Given the description of an element on the screen output the (x, y) to click on. 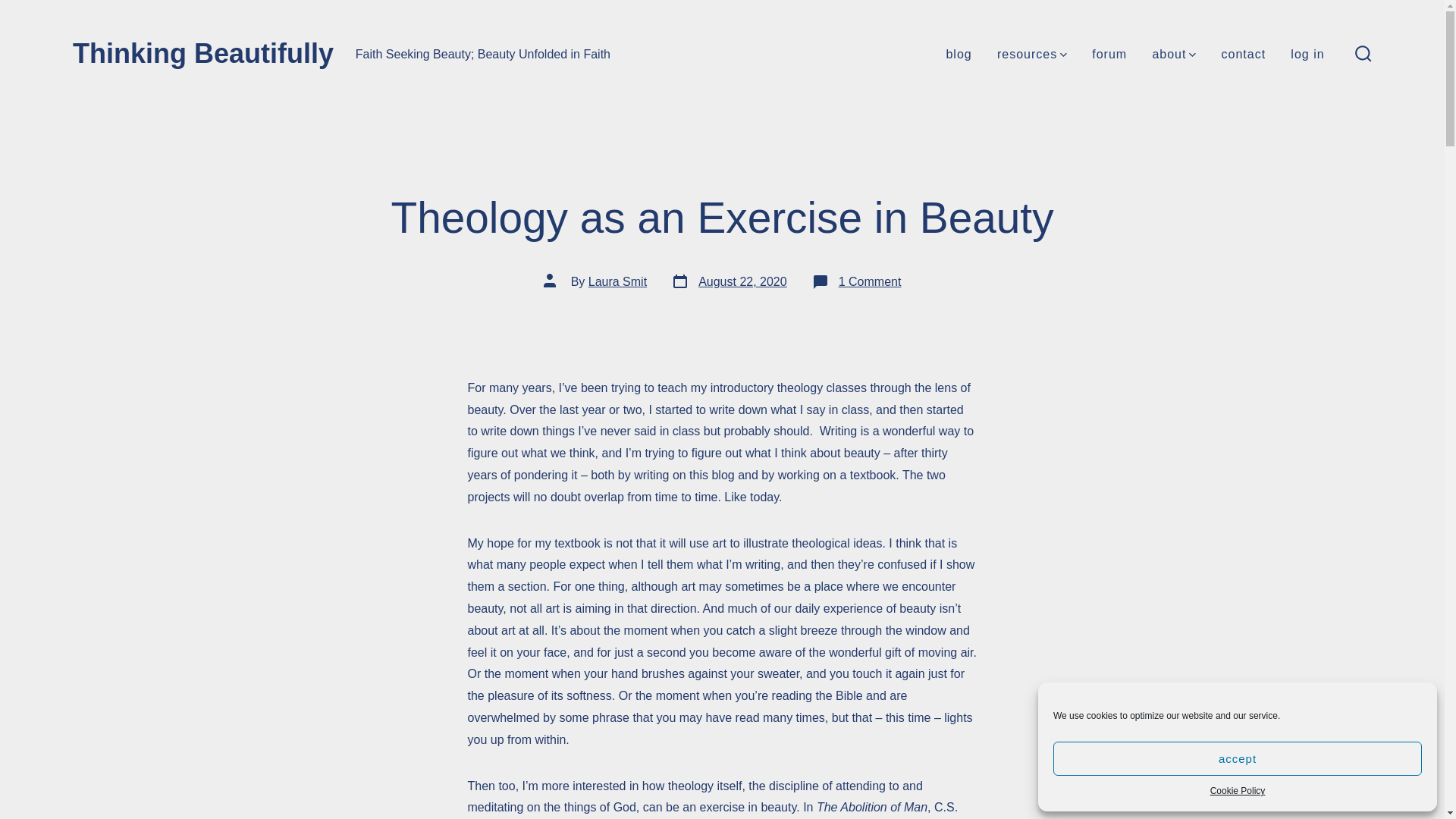
blog (957, 55)
forum (1109, 55)
Cookie Policy (729, 281)
log in (1237, 791)
resources (1306, 55)
Thinking Beautifully (1032, 55)
contact (202, 54)
accept (1243, 55)
about (1237, 758)
search toggle (1173, 55)
Laura Smit (1362, 54)
